Given the description of an element on the screen output the (x, y) to click on. 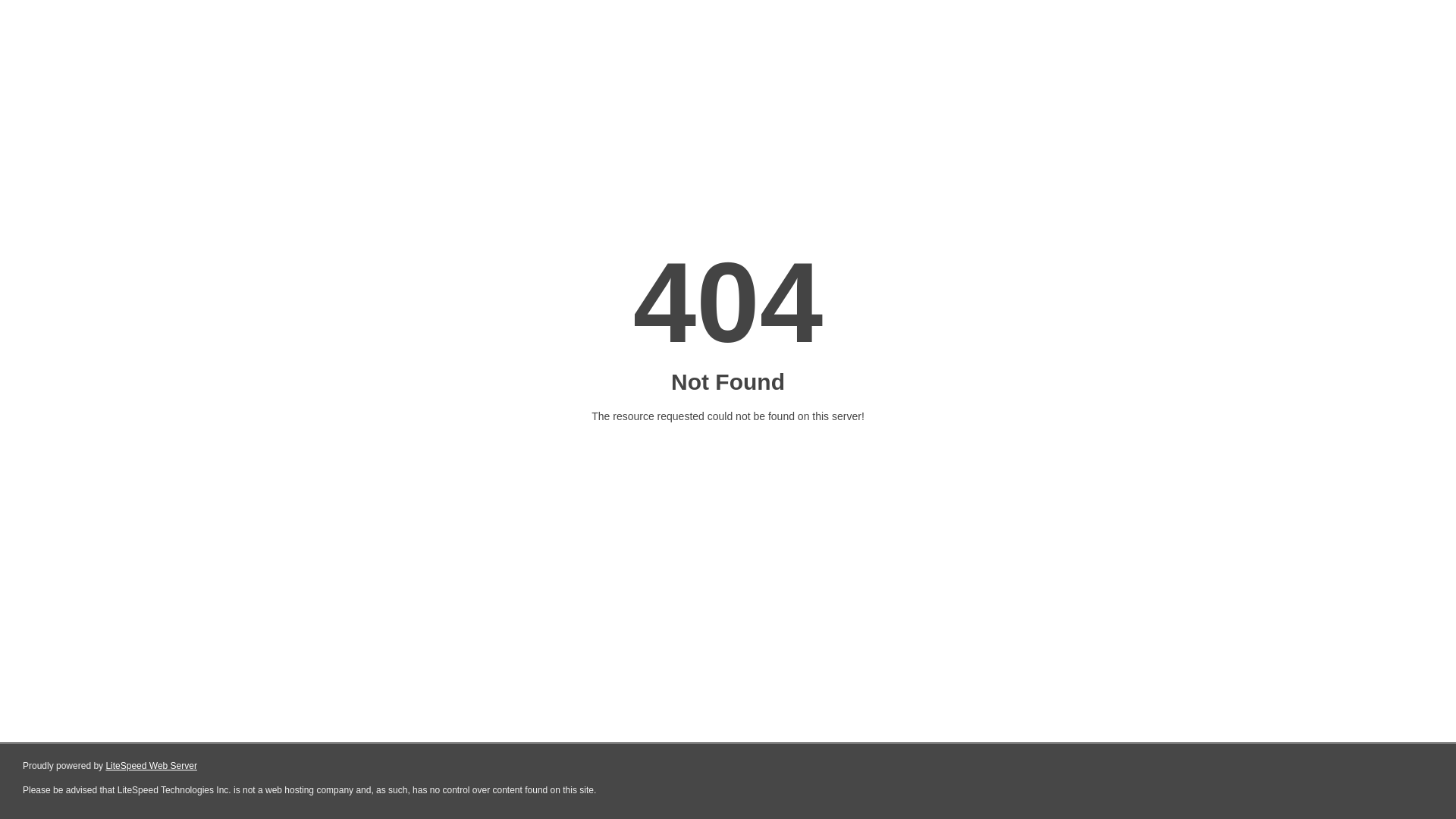
LiteSpeed Web Server (150, 765)
